Given the description of an element on the screen output the (x, y) to click on. 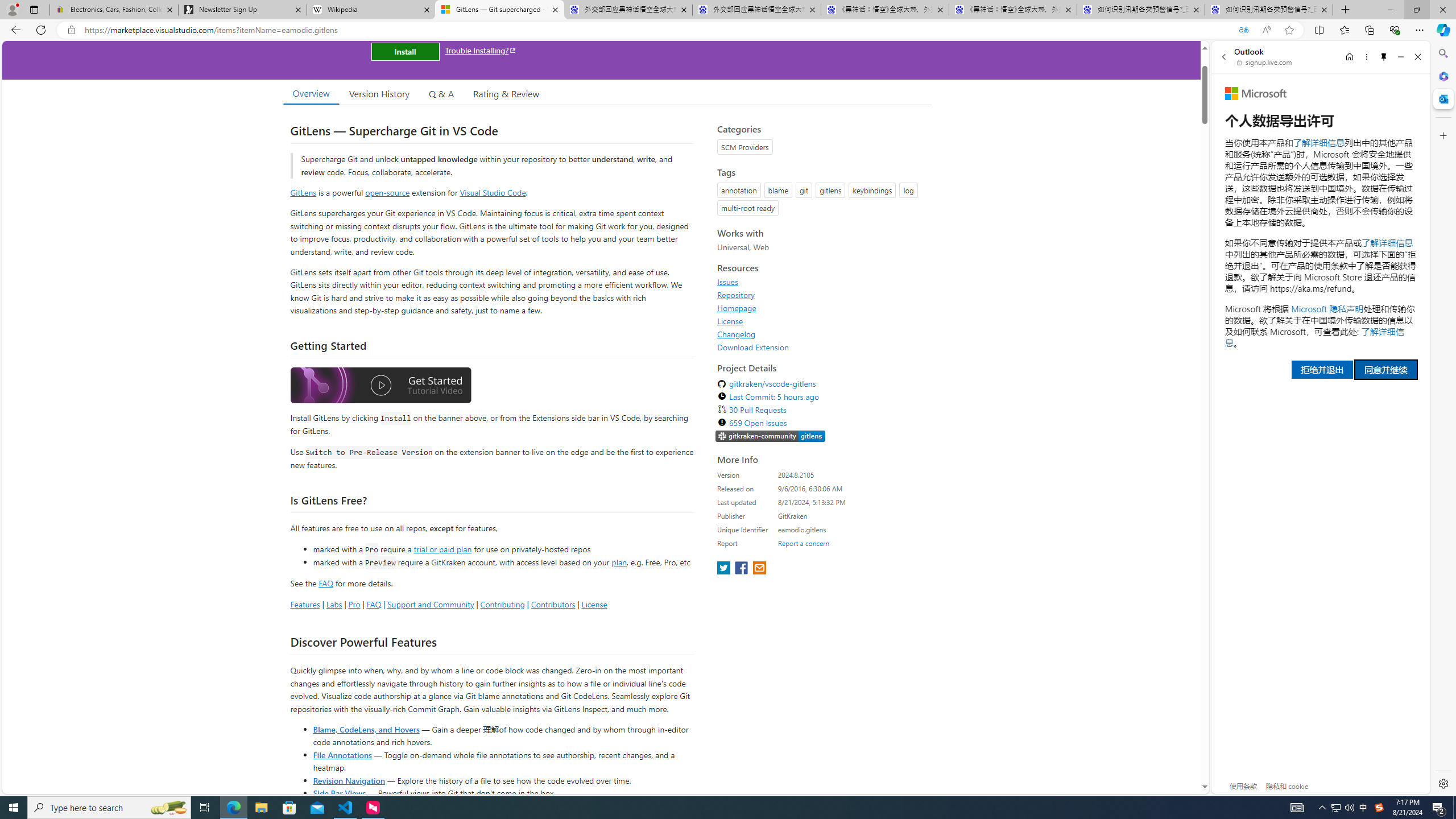
License (729, 320)
Repository (735, 294)
Features (304, 603)
signup.live.com (1264, 61)
Repository (820, 294)
File Annotations (342, 754)
Homepage (820, 307)
